Given the description of an element on the screen output the (x, y) to click on. 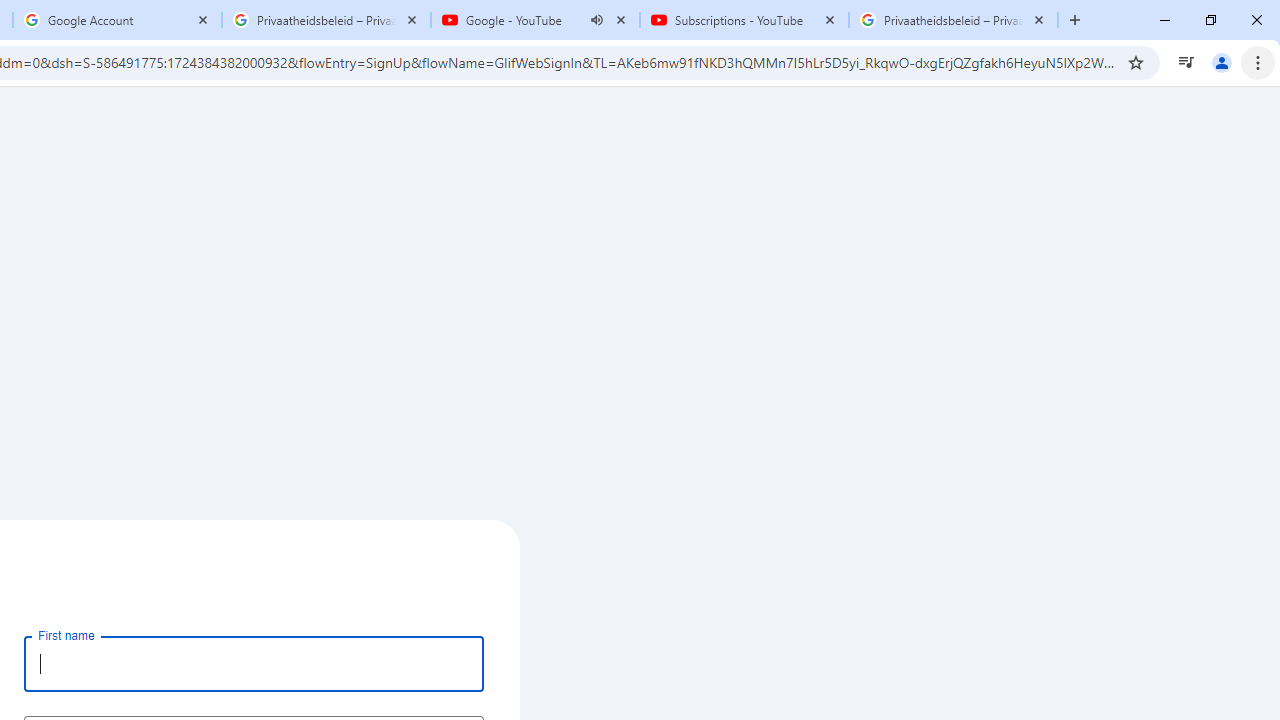
Google Account (116, 20)
Subscriptions - YouTube (744, 20)
Google - YouTube - Audio playing (535, 20)
First name (253, 663)
